Given the description of an element on the screen output the (x, y) to click on. 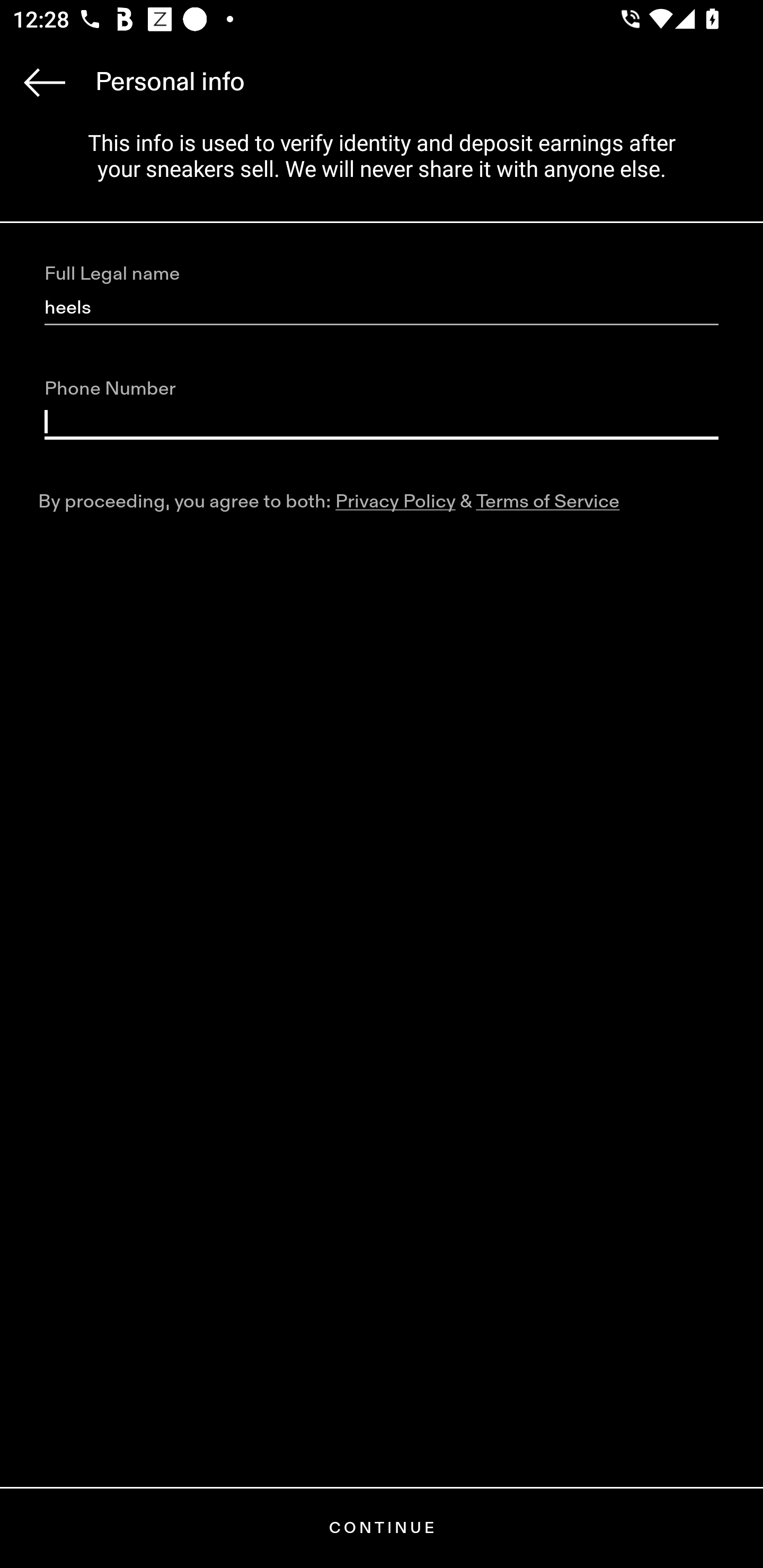
Navigate up (44, 82)
heels (381, 308)
Phone Number (381, 422)
CONTINUE (381, 1528)
